Given the description of an element on the screen output the (x, y) to click on. 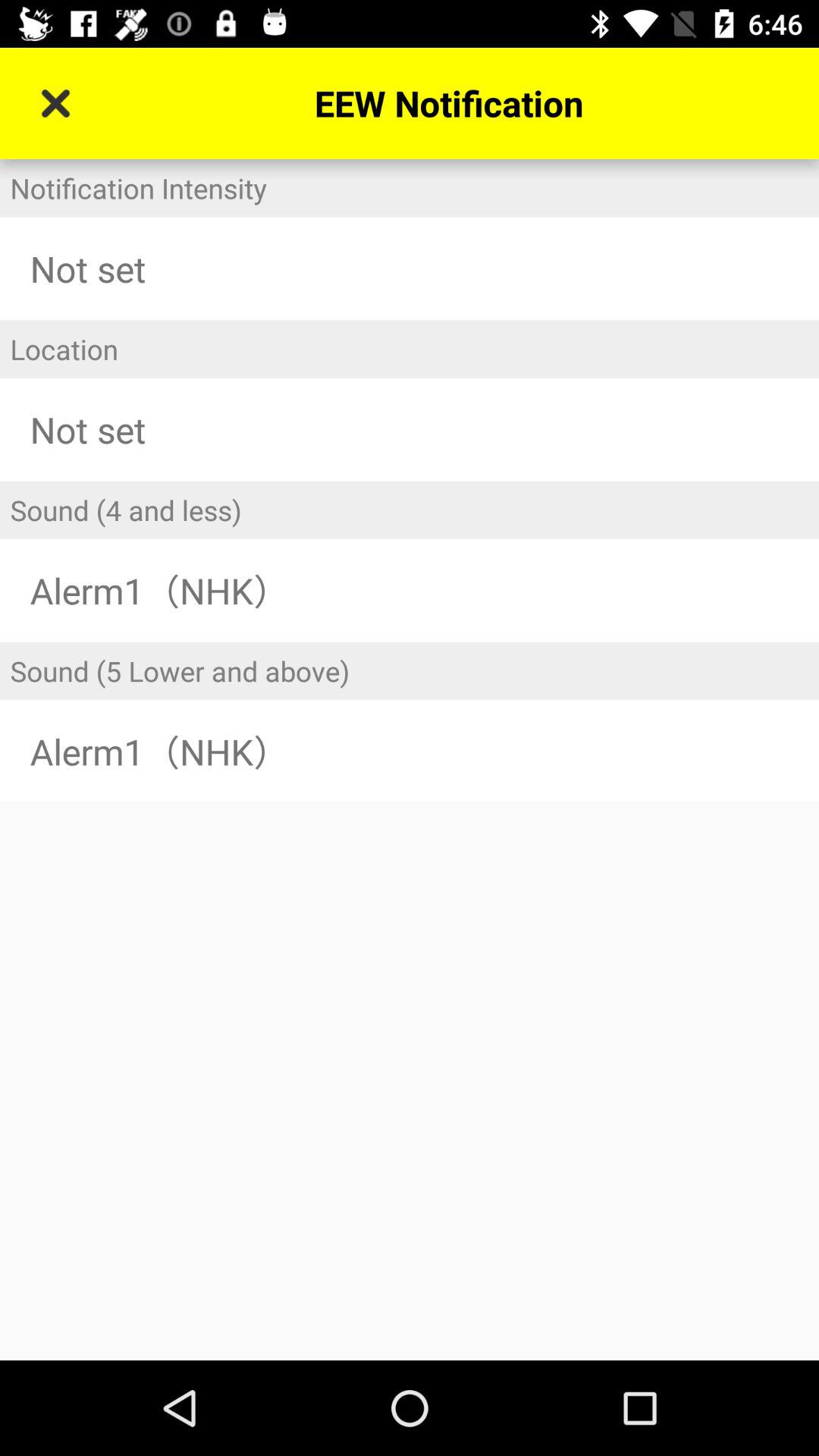
swipe to notification intensity icon (409, 188)
